Given the description of an element on the screen output the (x, y) to click on. 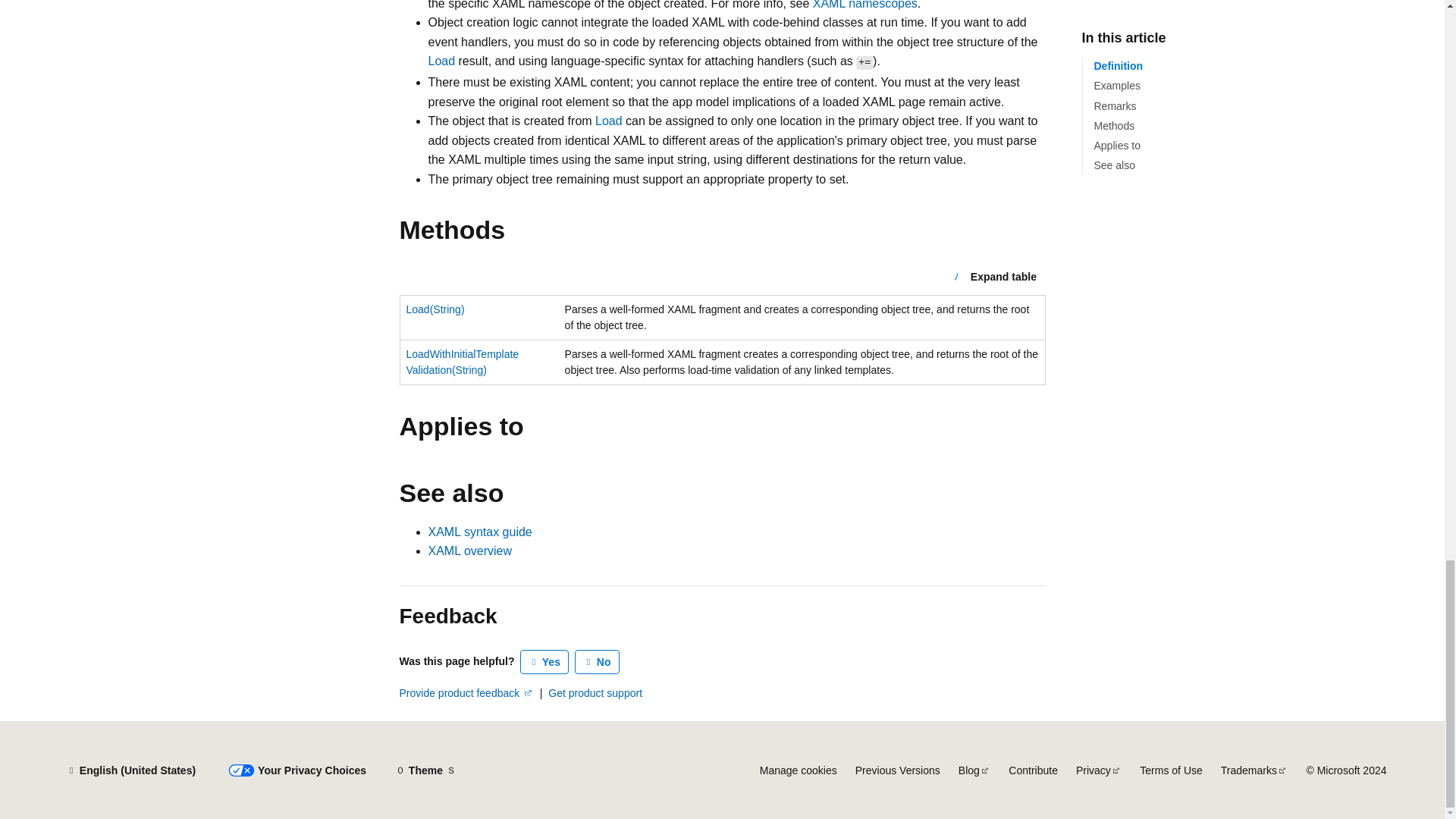
This article is helpful (544, 662)
Theme (425, 770)
This article is not helpful (597, 662)
